Given the description of an element on the screen output the (x, y) to click on. 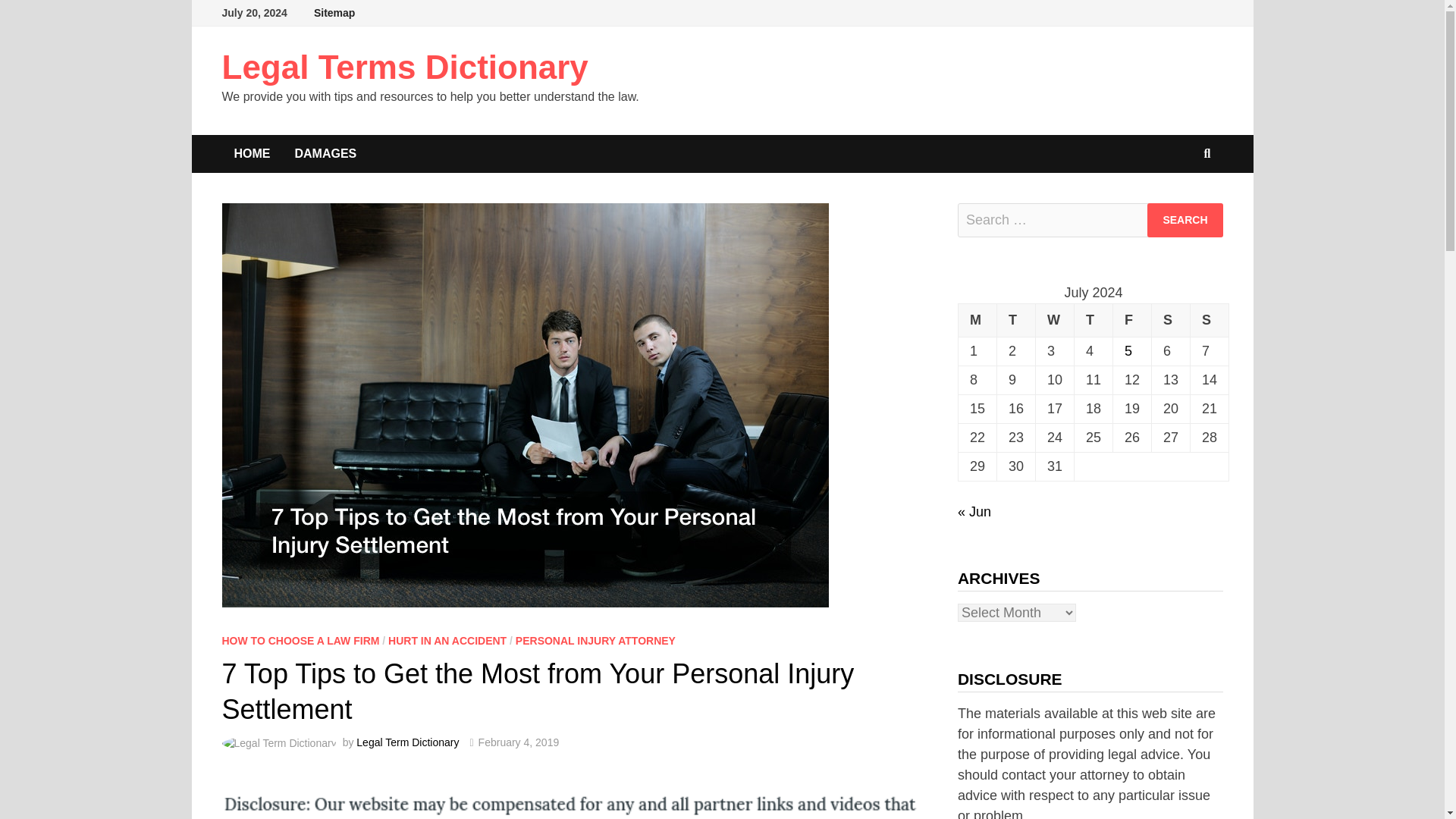
Saturday (1171, 319)
Sunday (1209, 319)
Monday (976, 319)
Sitemap (333, 13)
HOME (251, 153)
Tuesday (1015, 319)
PERSONAL INJURY ATTORNEY (595, 640)
Search (1185, 220)
HURT IN AN ACCIDENT (447, 640)
Legal Term Dictionary (407, 742)
Search (1185, 220)
HOW TO CHOOSE A LAW FIRM (299, 640)
Wednesday (1054, 319)
Legal Terms Dictionary (404, 66)
DAMAGES (325, 153)
